Given the description of an element on the screen output the (x, y) to click on. 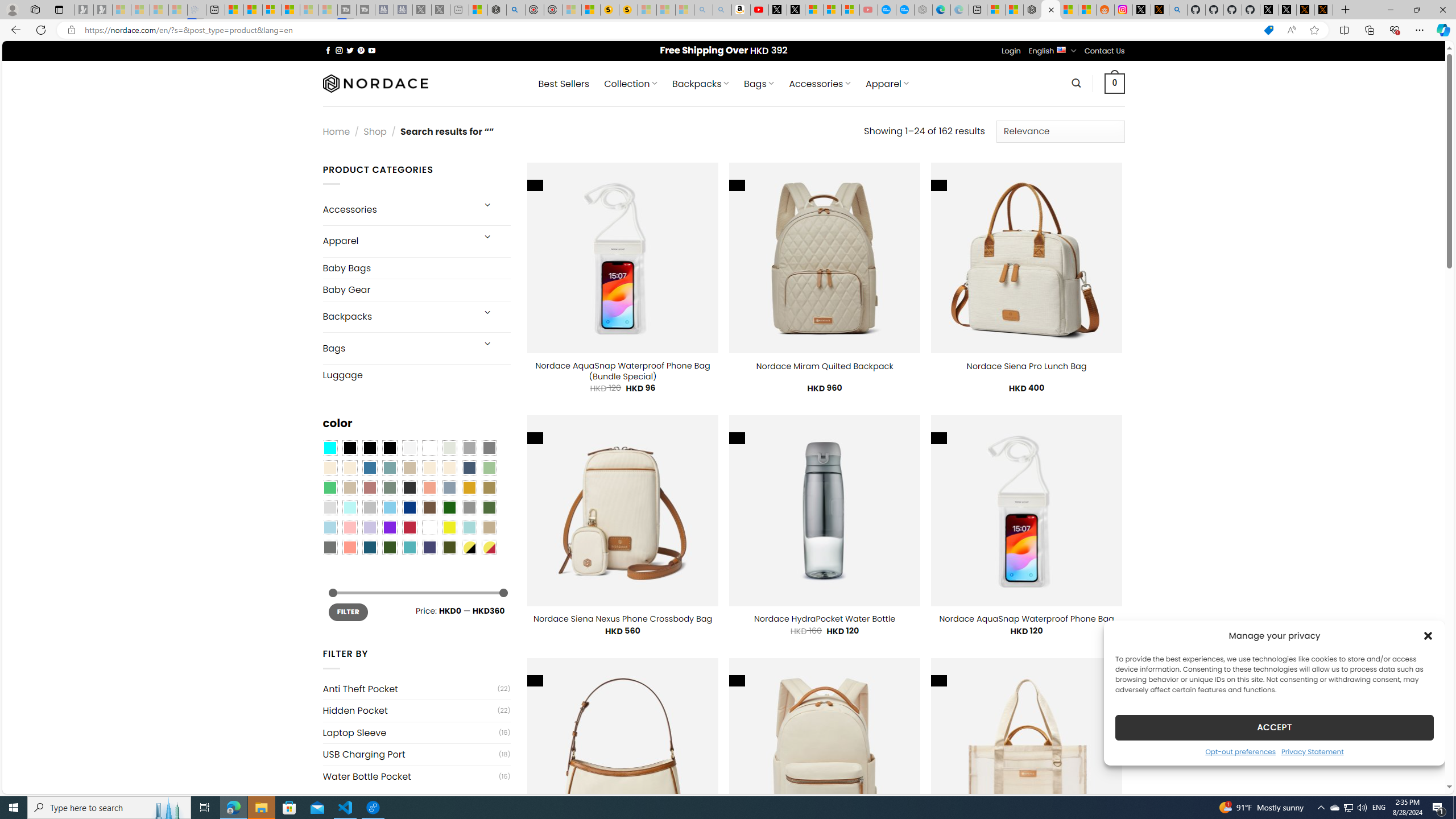
Aqua (468, 527)
Teal (408, 547)
Beige (329, 467)
Brown (429, 507)
Close tab (1050, 9)
Kelp (488, 487)
Rose (369, 487)
Hidden Pocket(22) (416, 710)
Charcoal (408, 487)
Apparel (397, 241)
Coral (429, 487)
Nordace Siena Pro Lunch Bag (1026, 365)
